Given the description of an element on the screen output the (x, y) to click on. 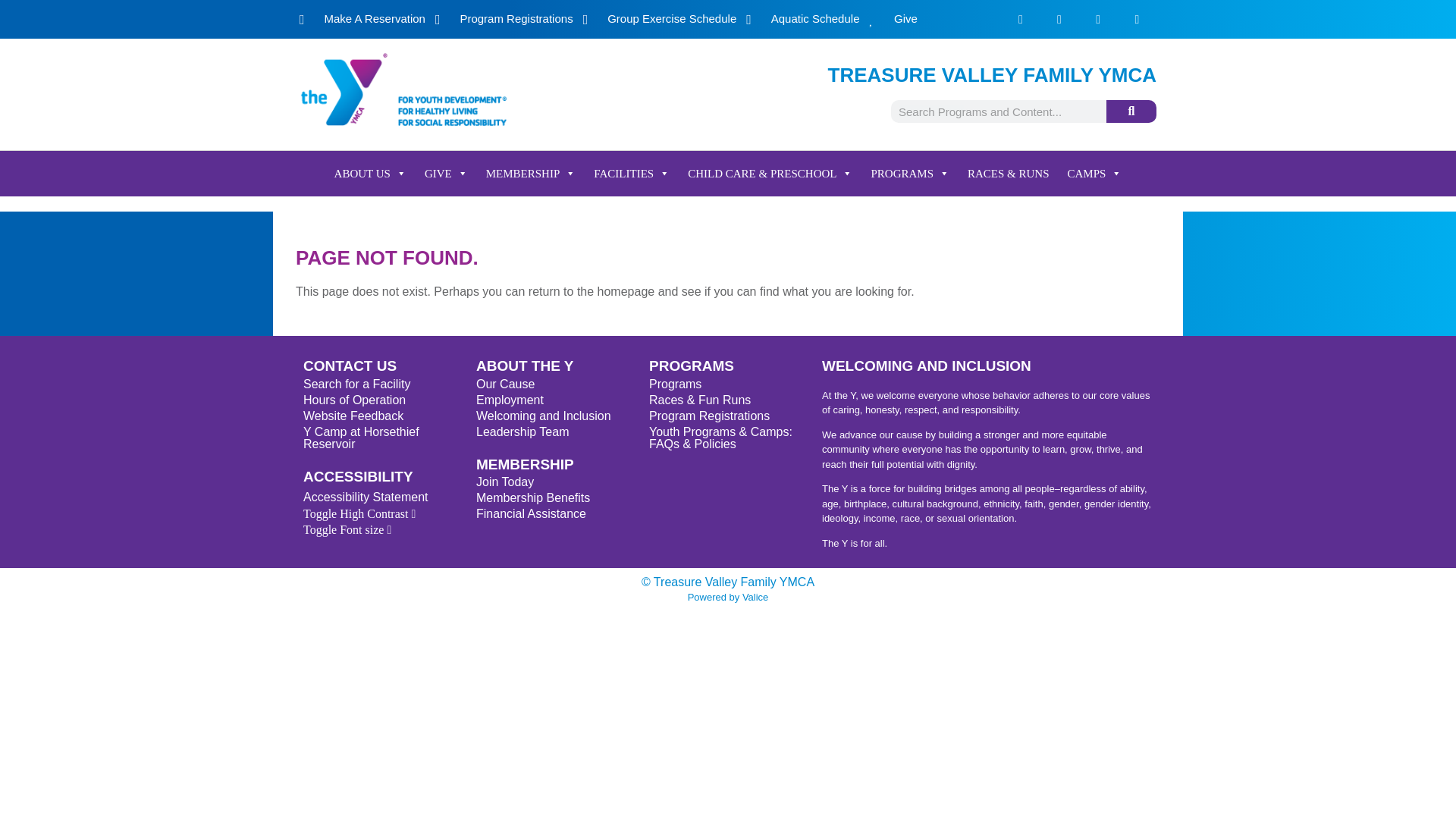
Program Registrations (504, 18)
ABOUT US (369, 173)
Group Exercise Schedule (659, 18)
Give (893, 18)
TREASURE VALLEY FAMILY YMCA (992, 74)
Make A Reservation (362, 18)
Aquatic Schedule (802, 18)
